Given the description of an element on the screen output the (x, y) to click on. 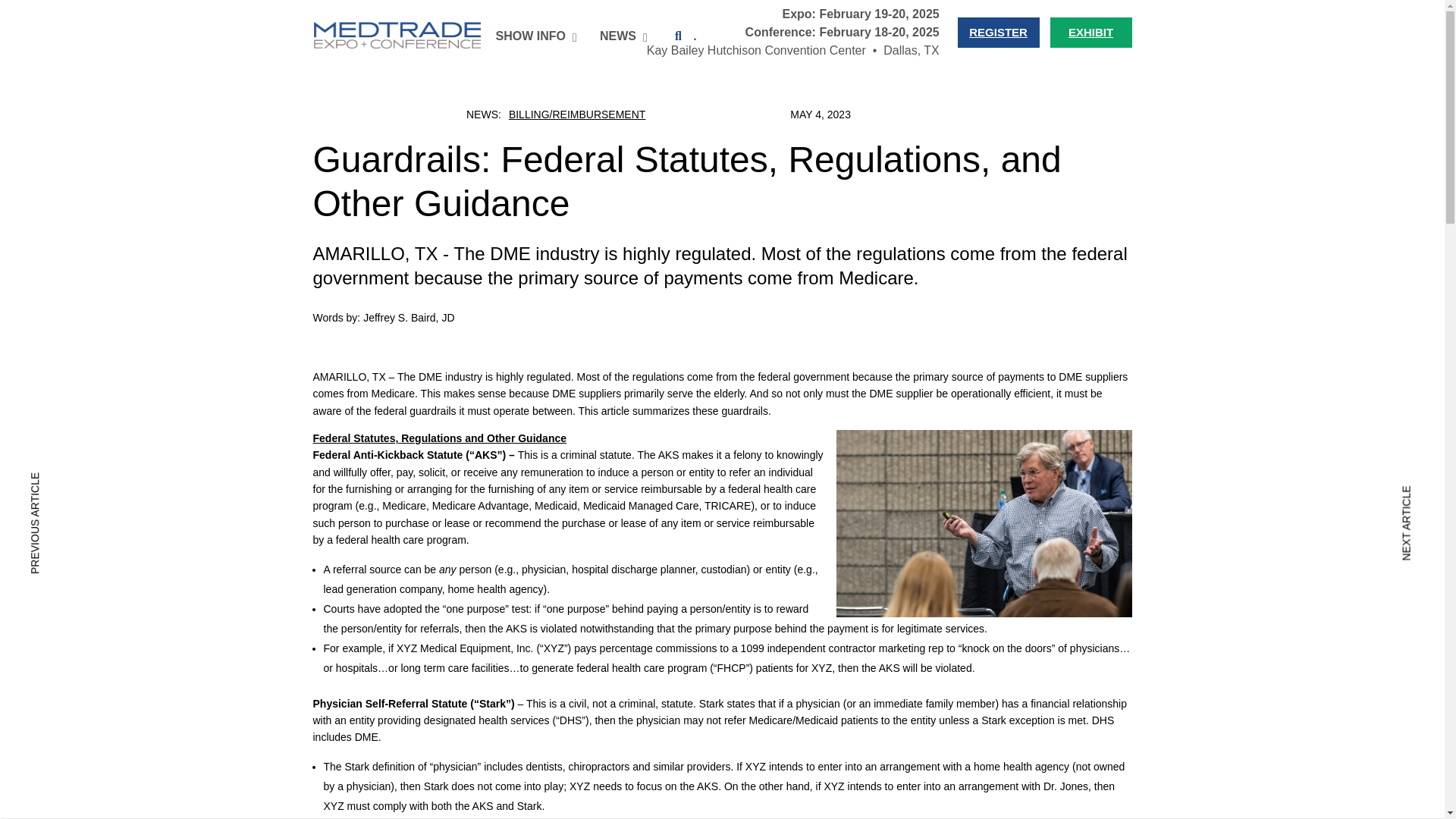
NEWS (620, 36)
SHOW INFO (532, 36)
